Given the description of an element on the screen output the (x, y) to click on. 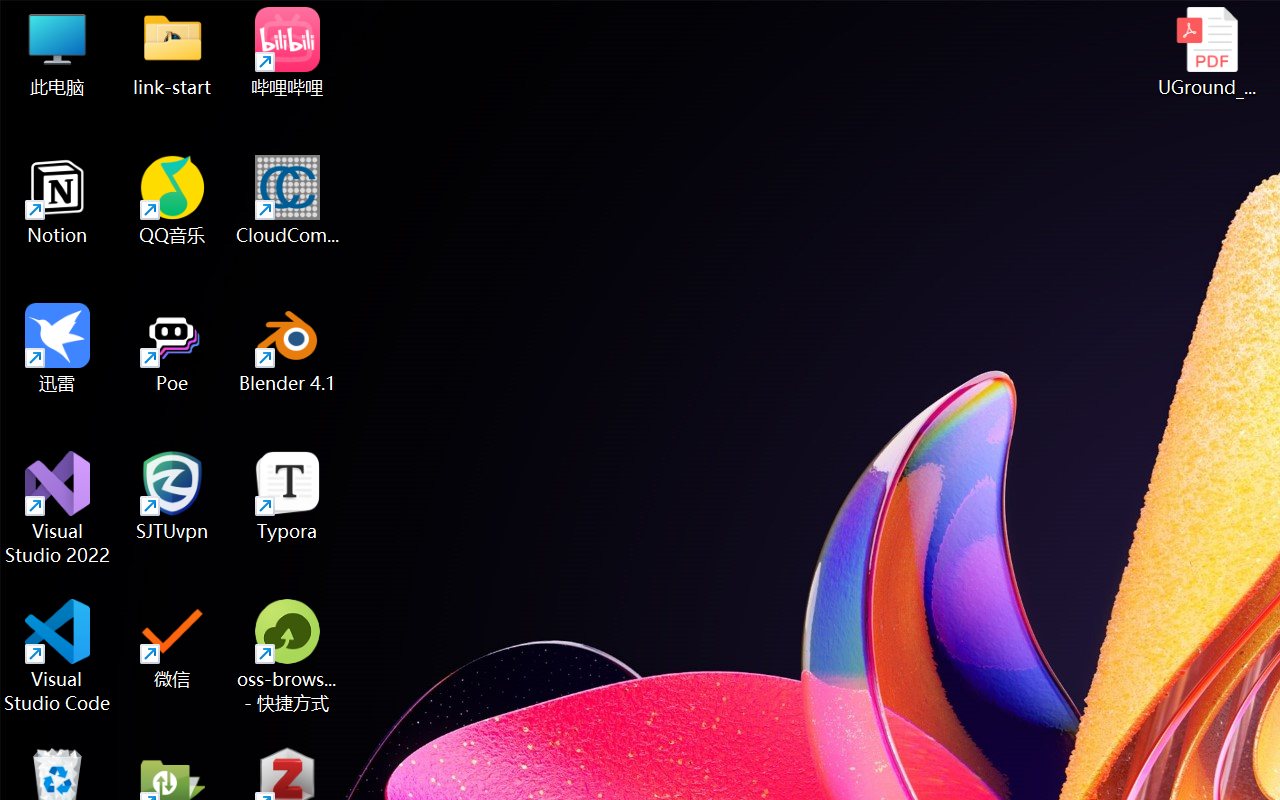
Typora (287, 496)
Notion (57, 200)
Blender 4.1 (287, 348)
SJTUvpn (172, 496)
Visual Studio Code (57, 656)
Poe (172, 348)
CloudCompare (287, 200)
Visual Studio 2022 (57, 508)
UGround_paper.pdf (1206, 52)
